Given the description of an element on the screen output the (x, y) to click on. 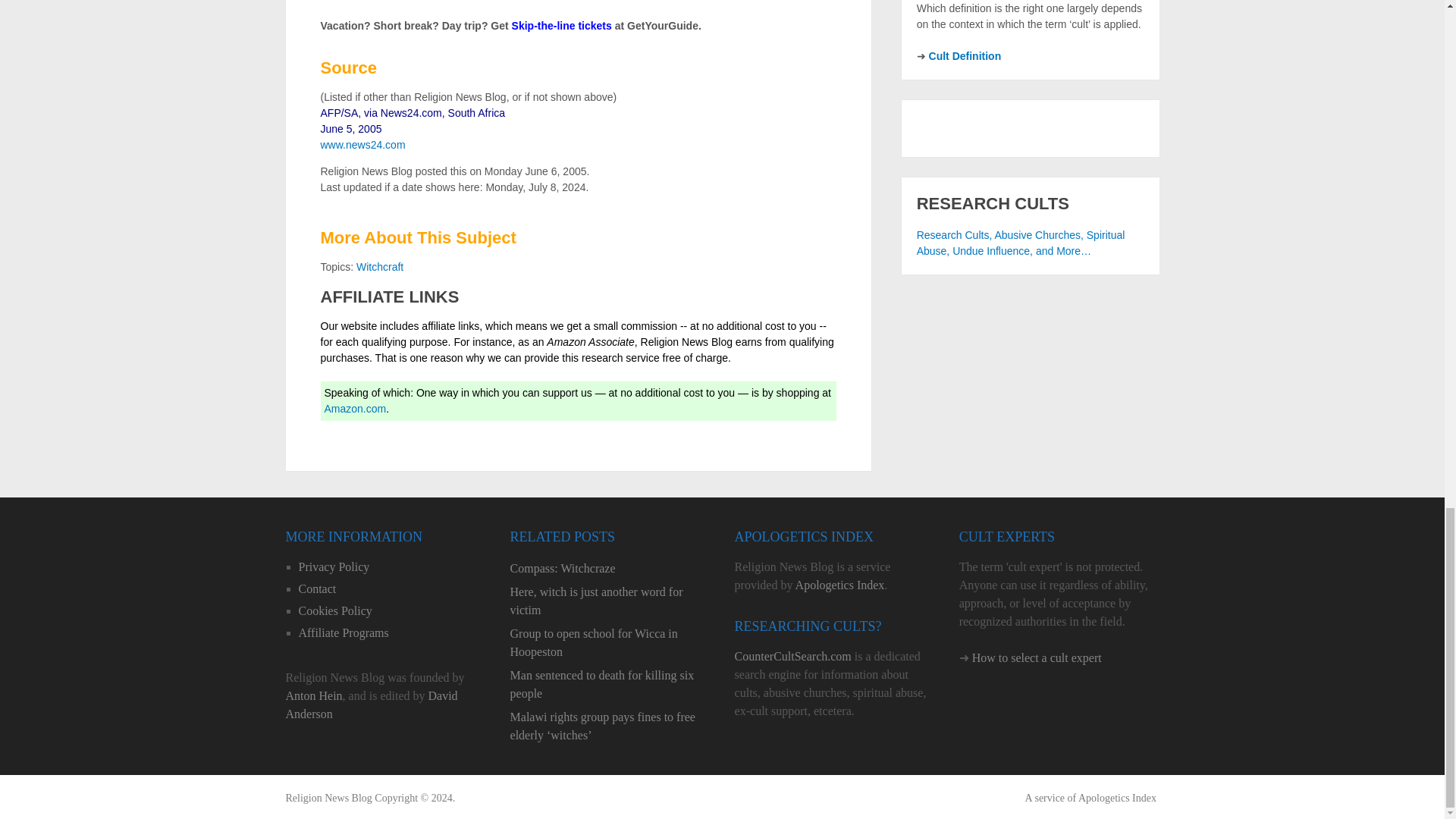
Cookies Policy (335, 610)
David Anderson (371, 704)
Man sentenced to death for killing six people (610, 684)
Contact (317, 588)
Skip-the-line tickets (561, 25)
Anton Hein (313, 695)
Cult Definition (964, 55)
Affiliate Programs (343, 632)
Here, witch is just another word for victim (610, 601)
Privacy Policy (333, 566)
Amazon.com (355, 408)
Compass: Witchcraze (610, 568)
 Religion news: religious cults, sects, and world religions (328, 797)
Group to open school for Wicca in Hoopeston (610, 642)
Witchcraft (379, 266)
